Given the description of an element on the screen output the (x, y) to click on. 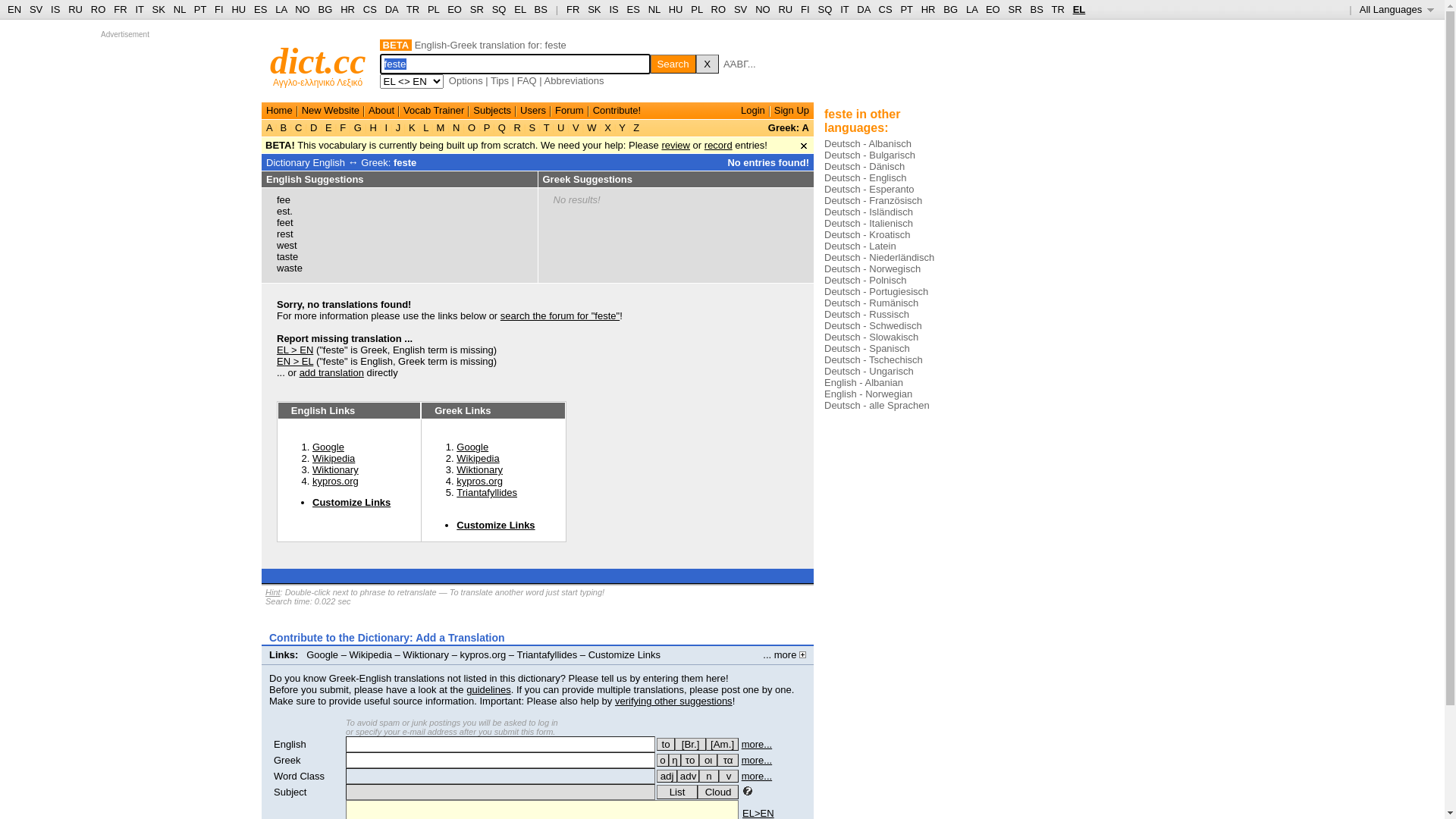
Deutsch - Latein Element type: text (860, 245)
Deutsch - Tschechisch Element type: text (873, 359)
Deutsch - alle Sprachen Element type: text (876, 405)
Deutsch - Schwedisch Element type: text (873, 325)
SV Element type: text (35, 9)
RU Element type: text (785, 9)
Deutsch - Polnisch Element type: text (865, 279)
Google Element type: text (328, 446)
EN Element type: text (14, 9)
PL Element type: text (433, 9)
C Element type: text (297, 127)
FAQ Element type: text (526, 80)
ES Element type: text (260, 9)
FR Element type: text (572, 9)
to Element type: text (665, 743)
List Element type: text (676, 791)
FR Element type: text (119, 9)
Vocab Trainer Element type: text (433, 110)
more... Element type: text (756, 775)
Deutsch - Italienisch Element type: text (868, 223)
dict.cc Element type: text (317, 60)
BS Element type: text (540, 9)
SR Element type: text (476, 9)
EO Element type: text (992, 9)
H Element type: text (373, 127)
N Element type: text (455, 127)
P Element type: text (486, 127)
Customize Links Element type: text (624, 654)
Google Element type: text (472, 446)
Deutsch - Esperanto Element type: text (869, 188)
[Br.] Element type: text (690, 743)
Deutsch - Kroatisch Element type: text (867, 234)
NO Element type: text (762, 9)
Deutsch - Englisch Element type: text (865, 177)
SK Element type: text (158, 9)
EL Element type: text (1079, 9)
All Languages  Element type: text (1396, 9)
Search Element type: text (673, 63)
adv Element type: text (688, 775)
IS Element type: text (54, 9)
Options Element type: text (465, 80)
About Element type: text (381, 110)
T Element type: text (546, 127)
F Element type: text (342, 127)
Home Element type: text (279, 110)
SQ Element type: text (499, 9)
A Element type: text (270, 127)
G Element type: text (357, 127)
Cloud Element type: text (717, 791)
I Element type: text (386, 127)
Deutsch - Portugiesisch Element type: text (876, 291)
B Element type: text (283, 127)
NO Element type: text (302, 9)
kypros.org Element type: text (479, 480)
kypros.org Element type: text (335, 480)
U Element type: text (560, 127)
SK Element type: text (593, 9)
BG Element type: text (325, 9)
LA Element type: text (971, 9)
English Element type: text (289, 743)
D Element type: text (313, 127)
BS Element type: text (1035, 9)
IT Element type: text (138, 9)
IS Element type: text (613, 9)
Triantafyllides Element type: text (546, 654)
Wikipedia Element type: text (370, 654)
RO Element type: text (718, 9)
Deutsch - Spanisch Element type: text (867, 348)
SV Element type: text (740, 9)
J Element type: text (397, 127)
[Am.] Element type: text (722, 743)
Wiktionary Element type: text (335, 469)
FI Element type: text (218, 9)
NL Element type: text (179, 9)
HR Element type: text (928, 9)
EN > EL Element type: text (294, 361)
Sign Up Element type: text (791, 110)
verifying other suggestions Element type: text (673, 700)
O Element type: text (470, 127)
Abbreviations Element type: text (574, 80)
M Element type: text (440, 127)
PT Element type: text (906, 9)
Triantafyllides Element type: text (486, 492)
(esp.) American English Element type: hover (722, 743)
n Element type: text (708, 775)
Wiktionary Element type: text (479, 469)
Q Element type: text (501, 127)
taste Element type: text (287, 256)
review Element type: text (675, 144)
for verbs Element type: hover (665, 743)
SR Element type: text (1015, 9)
search the forum for "feste" Element type: text (559, 315)
HU Element type: text (238, 9)
waste Element type: text (289, 267)
more... Element type: text (756, 759)
FI Element type: text (804, 9)
Forum Element type: text (569, 110)
NL Element type: text (654, 9)
E Element type: text (328, 127)
Subjects Element type: text (492, 110)
Greek Element type: text (286, 759)
EL > EN Element type: text (294, 349)
(esp.) British English Element type: hover (690, 743)
HU Element type: text (675, 9)
EL Element type: text (519, 9)
Customize Links Element type: text (351, 502)
feet Element type: text (284, 222)
PT Element type: text (200, 9)
HR Element type: text (347, 9)
add translation Element type: text (331, 372)
IT Element type: text (844, 9)
CS Element type: text (884, 9)
Deutsch - Slowakisch Element type: text (871, 336)
adj Element type: text (666, 775)
R Element type: text (517, 127)
Dictionary Element type: text (288, 162)
X Element type: text (707, 63)
Users Element type: text (533, 110)
fee Element type: text (283, 199)
TR Element type: text (412, 9)
more... Element type: text (756, 743)
S Element type: text (532, 127)
Deutsch - Norwegisch Element type: text (872, 268)
Wikipedia Element type: text (333, 458)
Contribute to the Dictionary: Add a Translation Element type: text (387, 637)
Contribute! Element type: text (617, 110)
kypros.org Element type: text (483, 654)
Customize Links Element type: text (495, 524)
Deutsch - Albanisch Element type: text (867, 143)
TR Element type: text (1057, 9)
LA Element type: text (280, 9)
L Element type: text (425, 127)
EO Element type: text (454, 9)
Wiktionary Element type: text (425, 654)
SQ Element type: text (824, 9)
Login Element type: text (752, 110)
RO Element type: text (98, 9)
V Element type: text (575, 127)
New Website Element type: text (330, 110)
record Element type: text (718, 144)
PL Element type: text (696, 9)
Deutsch - Russisch Element type: text (866, 314)
rest Element type: text (284, 233)
est. Element type: text (284, 210)
English - Albanian Element type: text (863, 382)
... more Element type: text (784, 654)
v Element type: text (728, 775)
W Element type: text (591, 127)
Deutsch - Ungarisch Element type: text (868, 370)
Google Element type: text (322, 654)
west Element type: text (286, 245)
ES Element type: text (633, 9)
X Element type: text (608, 127)
Z Element type: text (636, 127)
English - Norwegian Element type: text (868, 393)
DA Element type: text (862, 9)
Hint Element type: text (272, 591)
DA Element type: text (391, 9)
CS Element type: text (369, 9)
RU Element type: text (75, 9)
Tips Element type: text (499, 80)
guidelines Element type: text (488, 689)
Wikipedia Element type: text (477, 458)
feste Element type: text (404, 162)
Deutsch - Bulgarisch Element type: text (869, 154)
BG Element type: text (950, 9)
K Element type: text (411, 127)
Y Element type: text (621, 127)
